Given the description of an element on the screen output the (x, y) to click on. 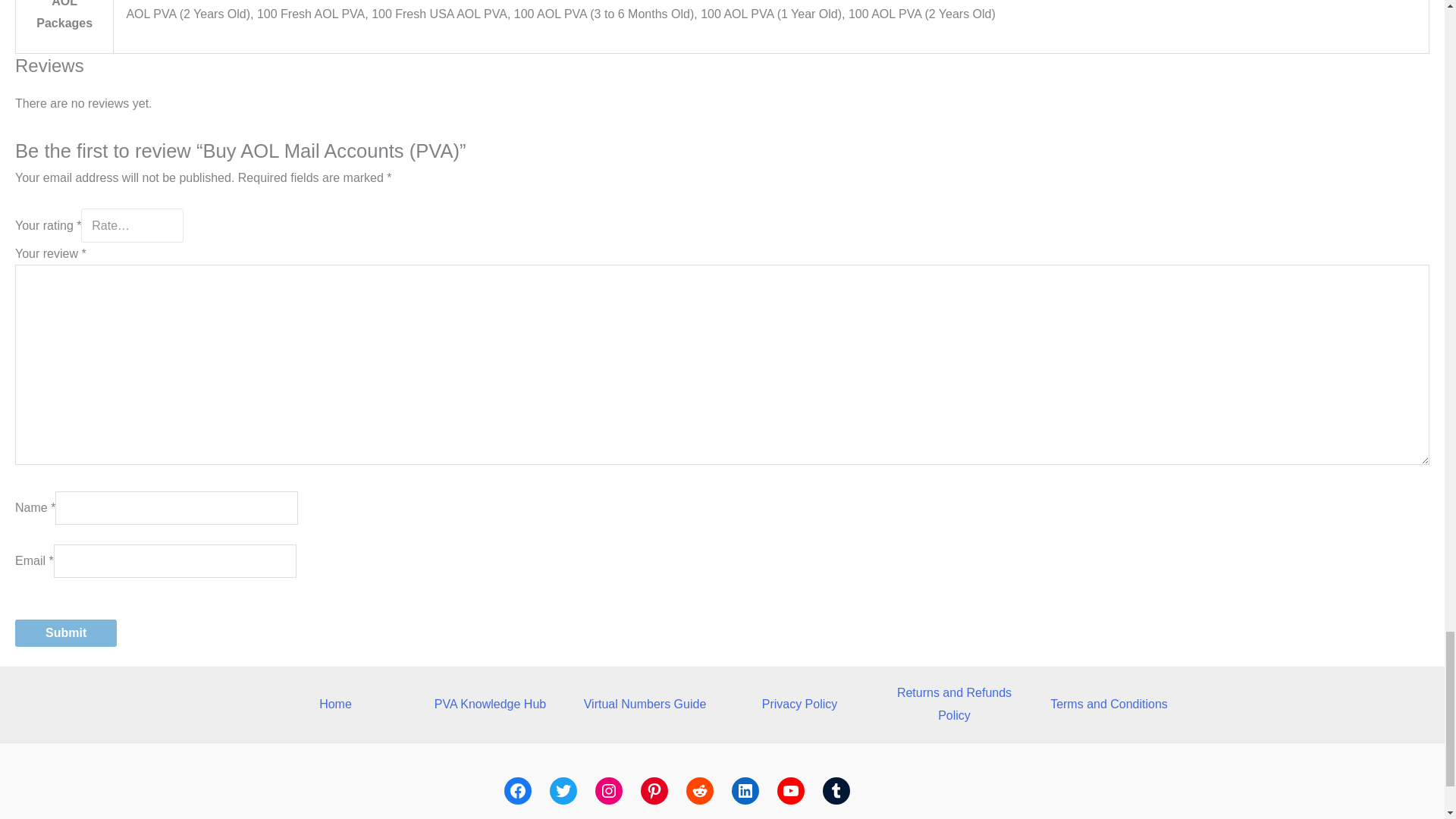
Returns and Refunds Policy (953, 703)
Submit (65, 633)
Submit (65, 633)
Home (335, 703)
Privacy Policy (799, 703)
Instagram (607, 790)
Facebook (517, 790)
Virtual Numbers Guide (644, 703)
PVA Knowledge Hub (489, 703)
Pinterest (653, 790)
